Given the description of an element on the screen output the (x, y) to click on. 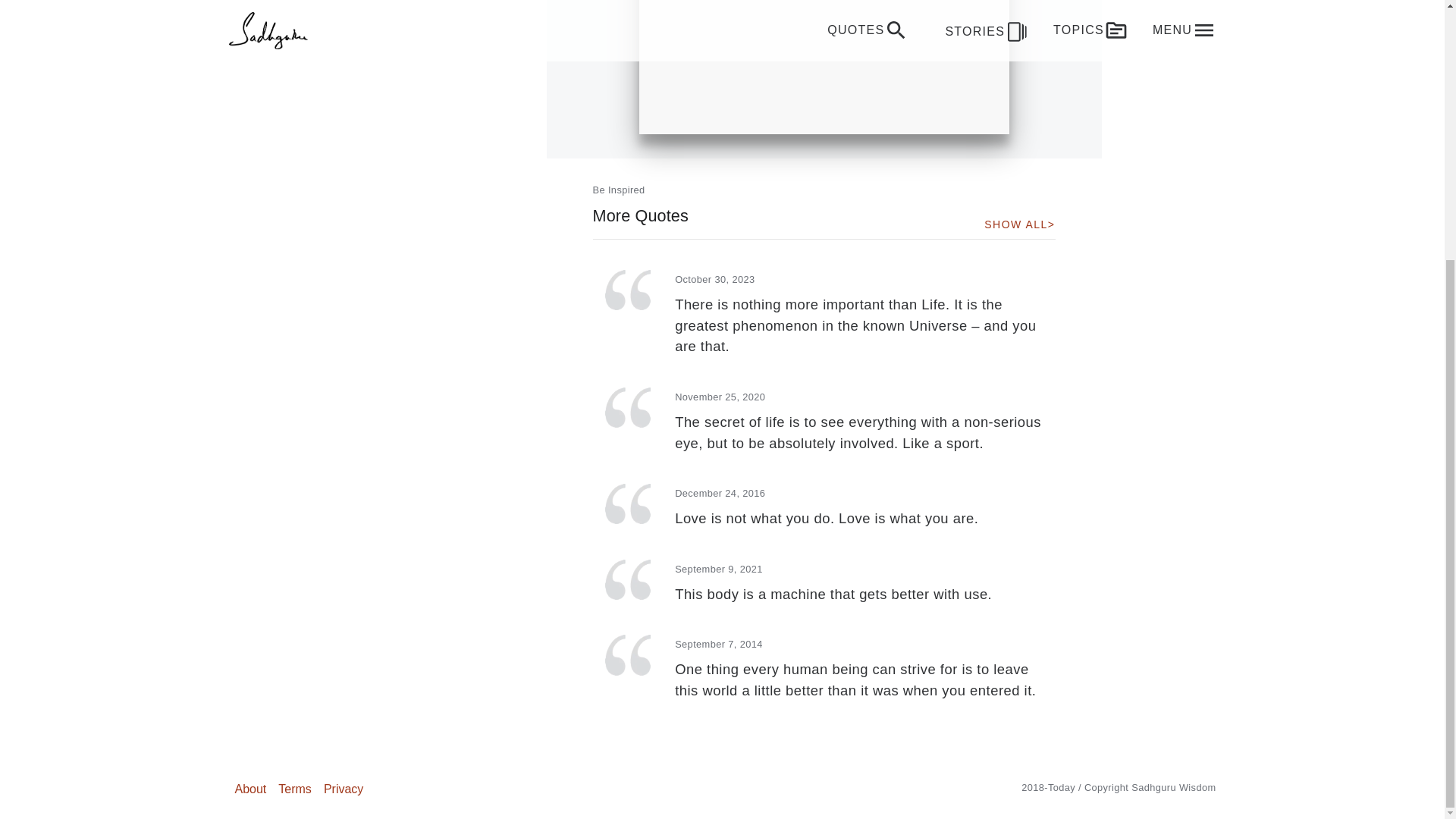
About (250, 788)
Privacy (343, 788)
Terms (294, 788)
